Given the description of an element on the screen output the (x, y) to click on. 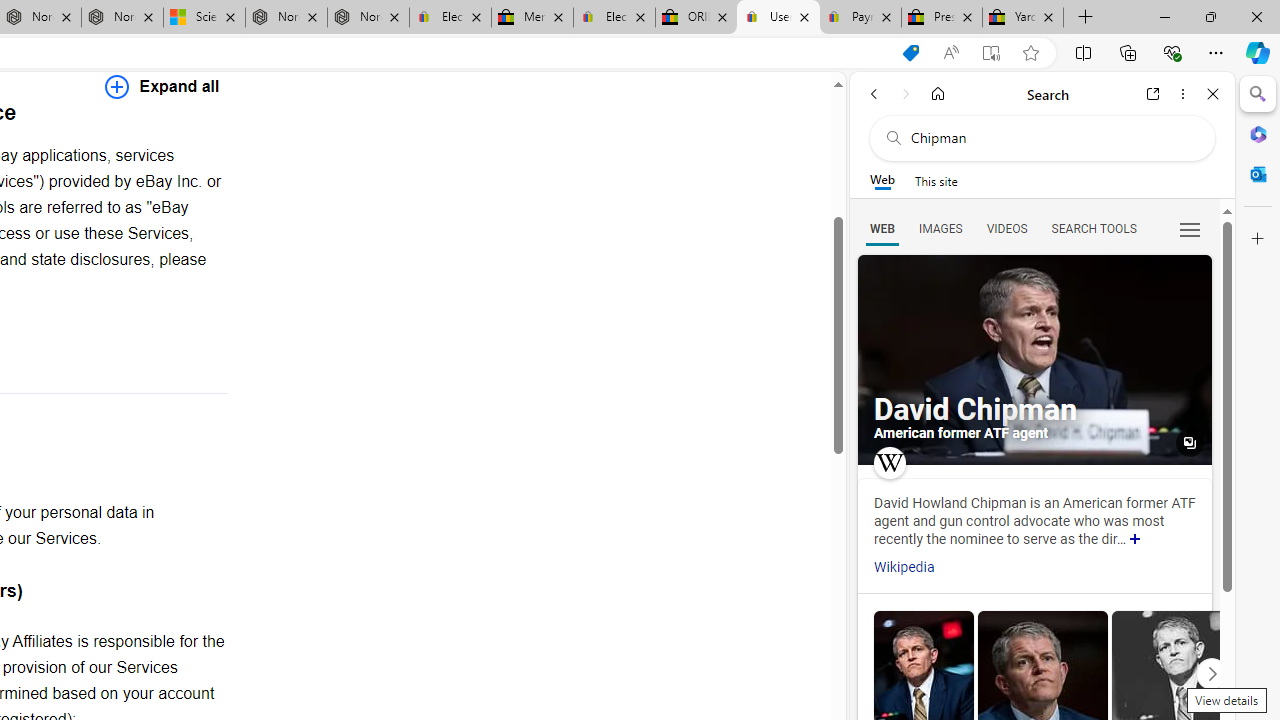
All images (1190, 443)
